Given the description of an element on the screen output the (x, y) to click on. 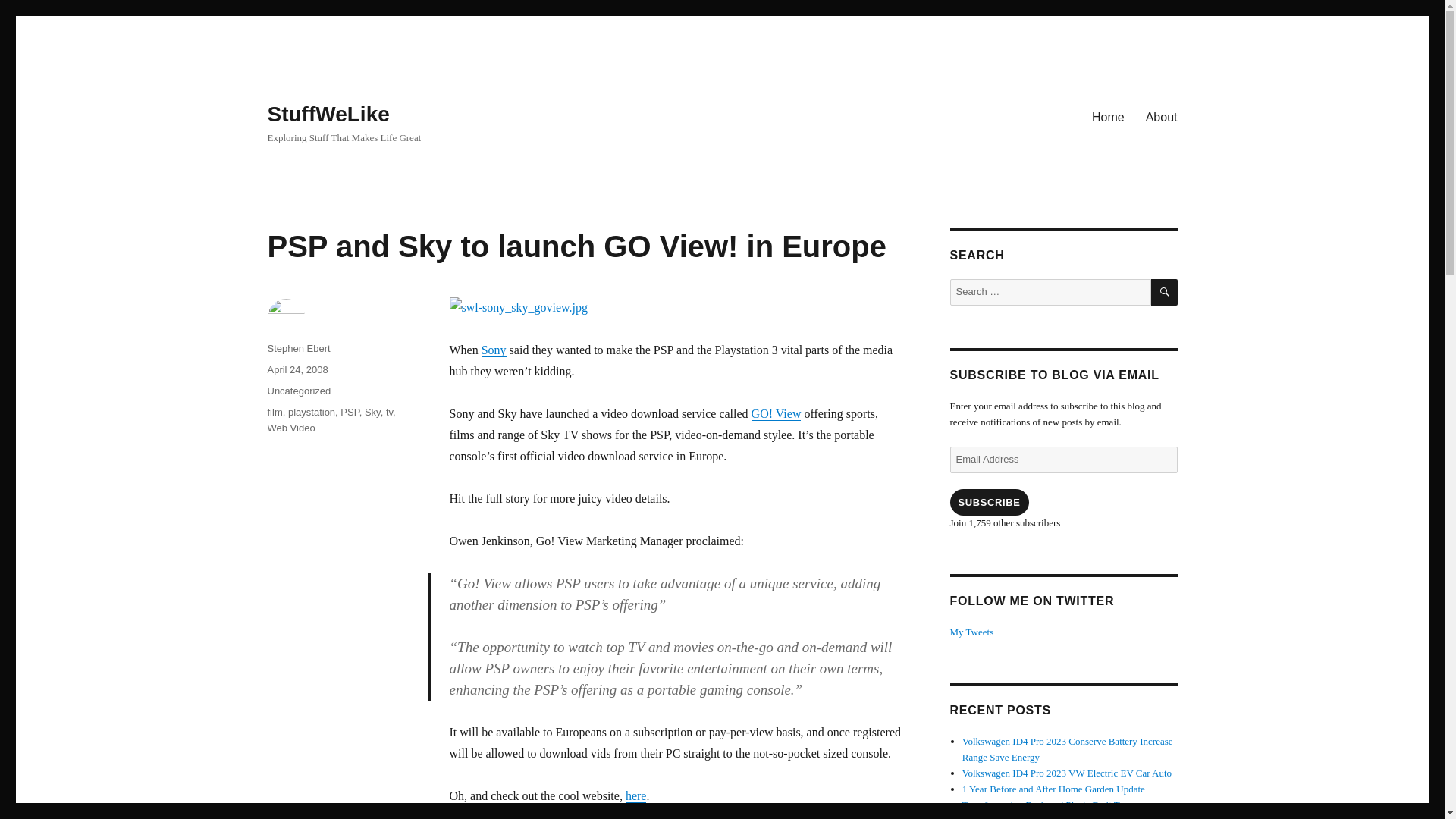
GO! View (776, 413)
Sky (372, 411)
here (636, 795)
Web Video (290, 428)
Home (1108, 116)
April 24, 2008 (296, 369)
playstation (311, 411)
Sony (493, 349)
StuffWeLike (327, 114)
film (274, 411)
Uncategorized (298, 390)
PSP (349, 411)
About (1161, 116)
Stephen Ebert (298, 348)
